Given the description of an element on the screen output the (x, y) to click on. 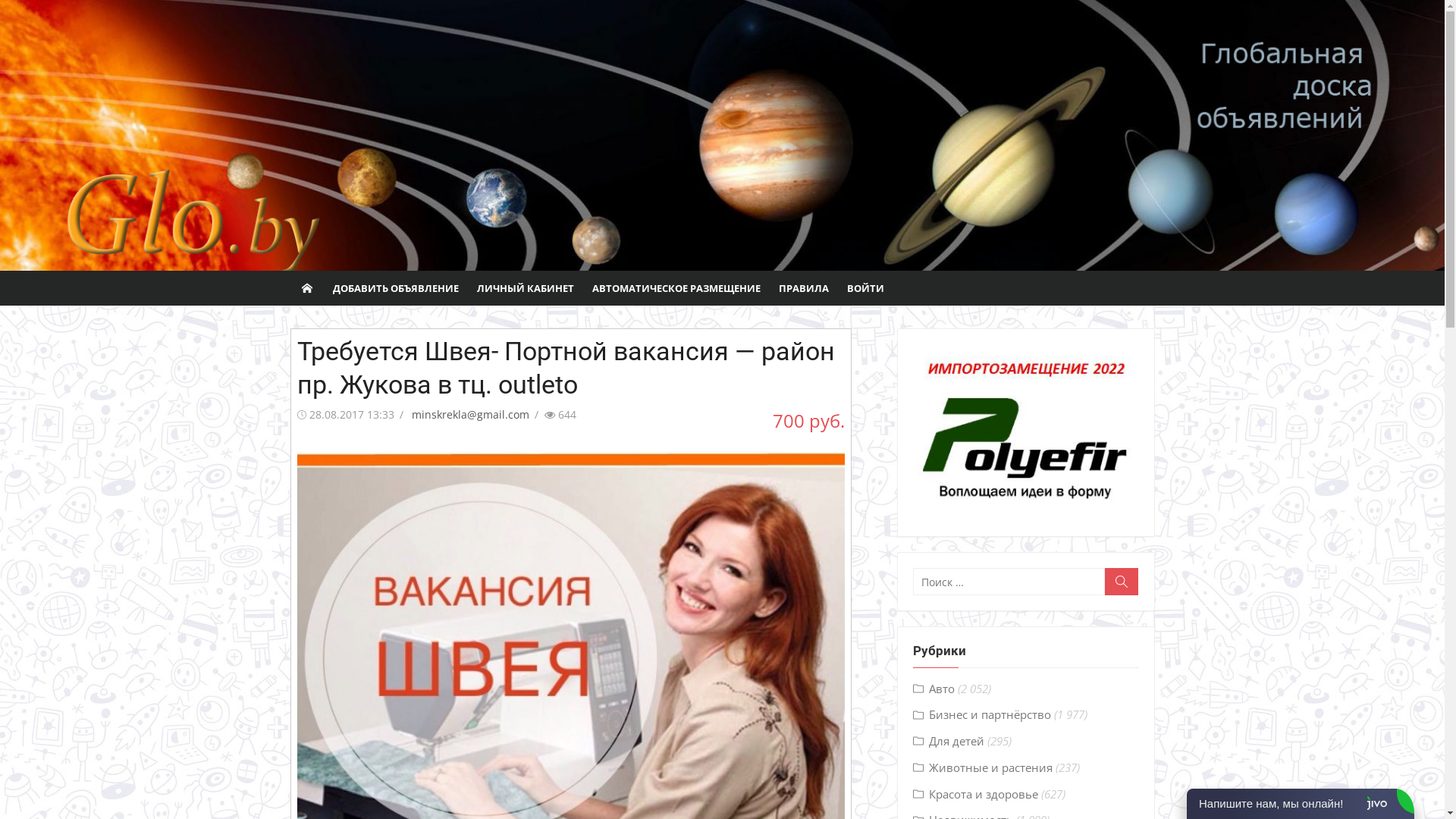
28.08.2017 13:33 Element type: text (351, 414)
minskrekla@gmail.com Element type: text (469, 414)
